Given the description of an element on the screen output the (x, y) to click on. 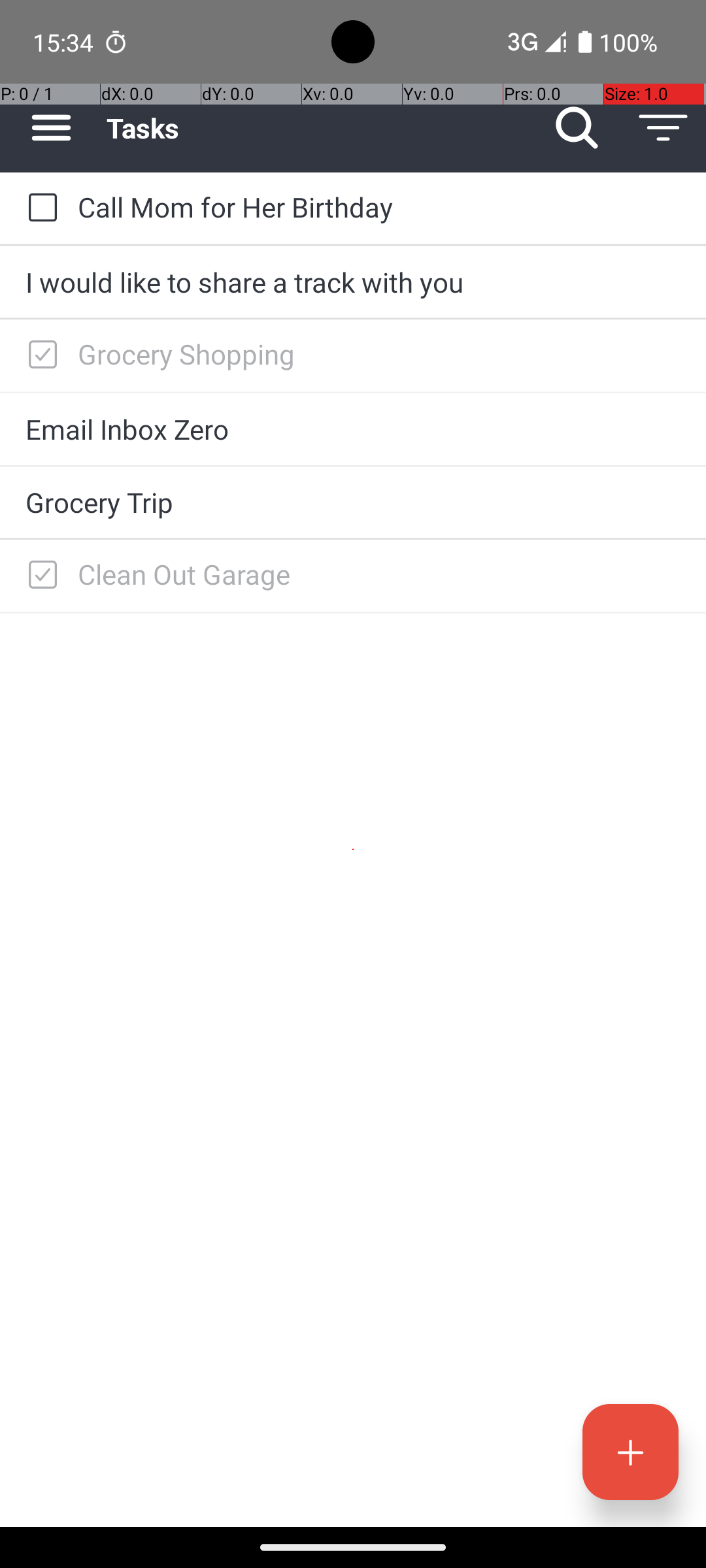
to-do: Call Mom for Her Birthday Element type: android.widget.CheckBox (38, 208)
Call Mom for Her Birthday Element type: android.widget.TextView (378, 206)
I would like to share a track with you Element type: android.widget.TextView (352, 281)
to-do: Grocery Shopping Element type: android.widget.CheckBox (38, 355)
Grocery Shopping Element type: android.widget.TextView (378, 353)
Email Inbox Zero Element type: android.widget.TextView (352, 428)
Grocery Trip Element type: android.widget.TextView (352, 501)
to-do: Clean Out Garage Element type: android.widget.CheckBox (38, 575)
Clean Out Garage Element type: android.widget.TextView (378, 573)
 Element type: android.widget.TextView (42, 355)
